Given the description of an element on the screen output the (x, y) to click on. 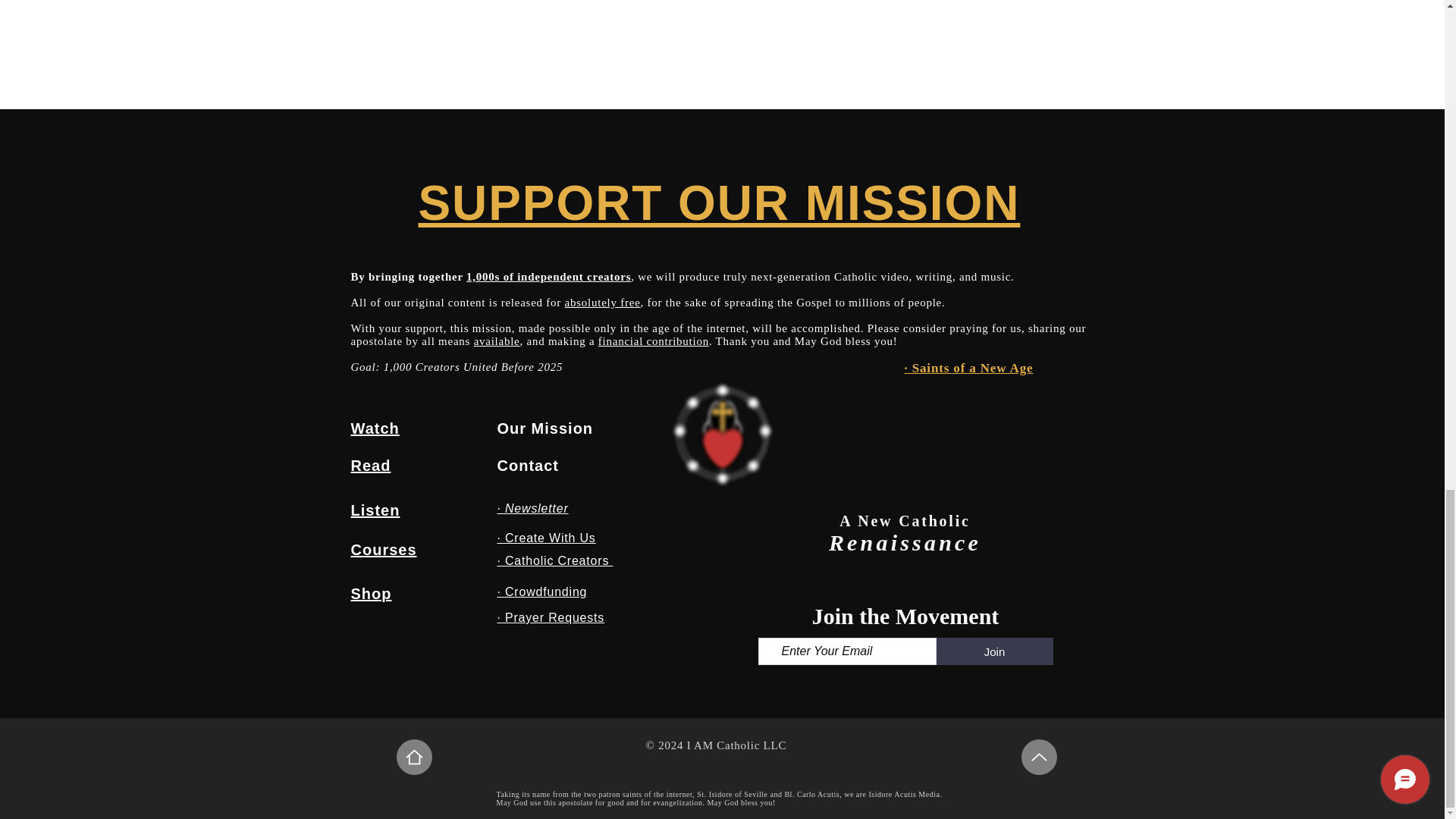
absolutely free (602, 302)
financial contribution (653, 340)
A New Catholic (905, 520)
Join (994, 651)
sacredheartlogo.png (721, 434)
Read (370, 465)
Shop (370, 593)
Courses (383, 549)
Listen (374, 510)
Watch (374, 428)
SUPPORT OUR MISSION (719, 203)
available (496, 340)
Our Mission (545, 428)
1,000s of independent creators (547, 276)
Contact (528, 465)
